Given the description of an element on the screen output the (x, y) to click on. 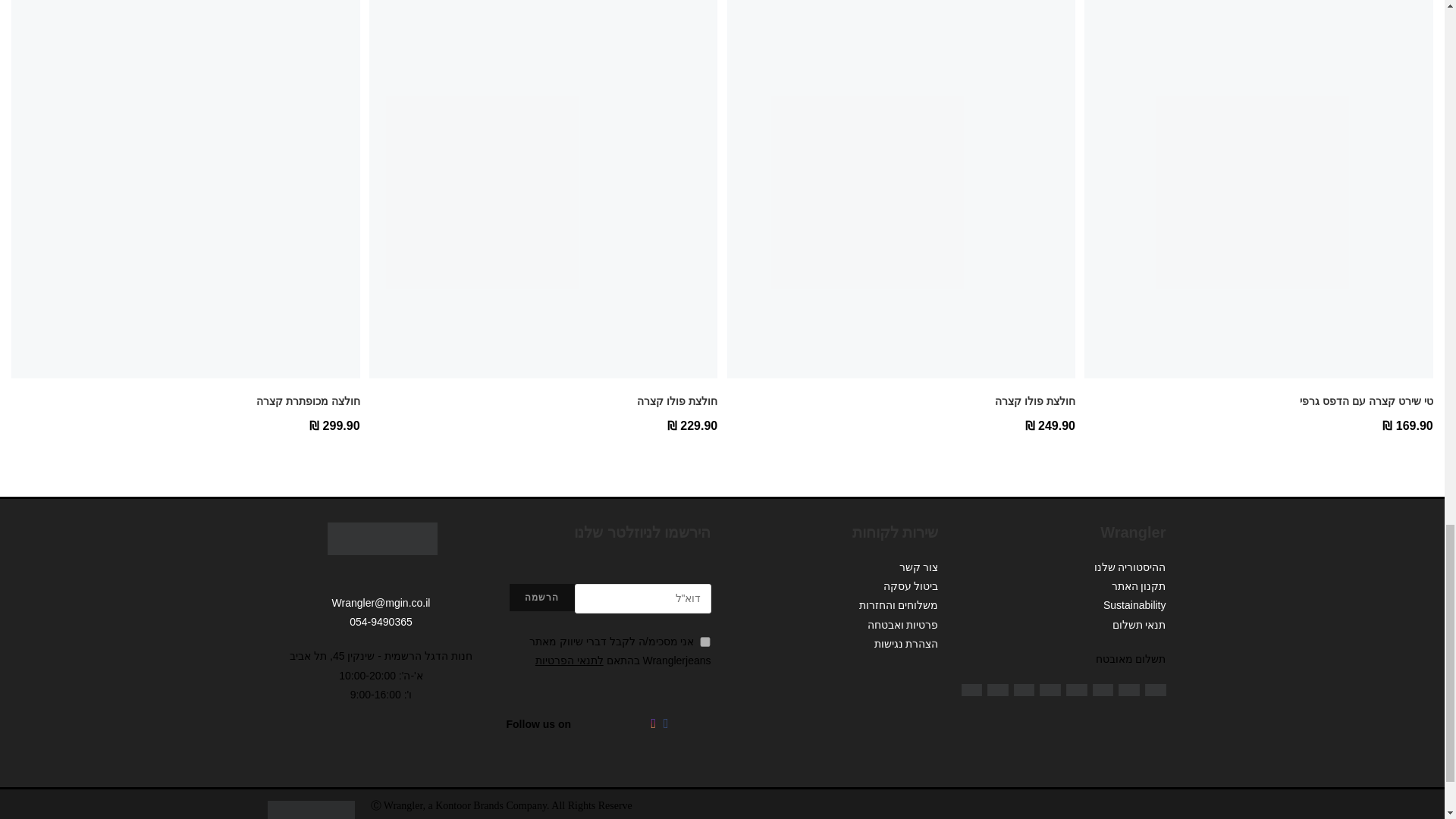
1 (704, 642)
